Given the description of an element on the screen output the (x, y) to click on. 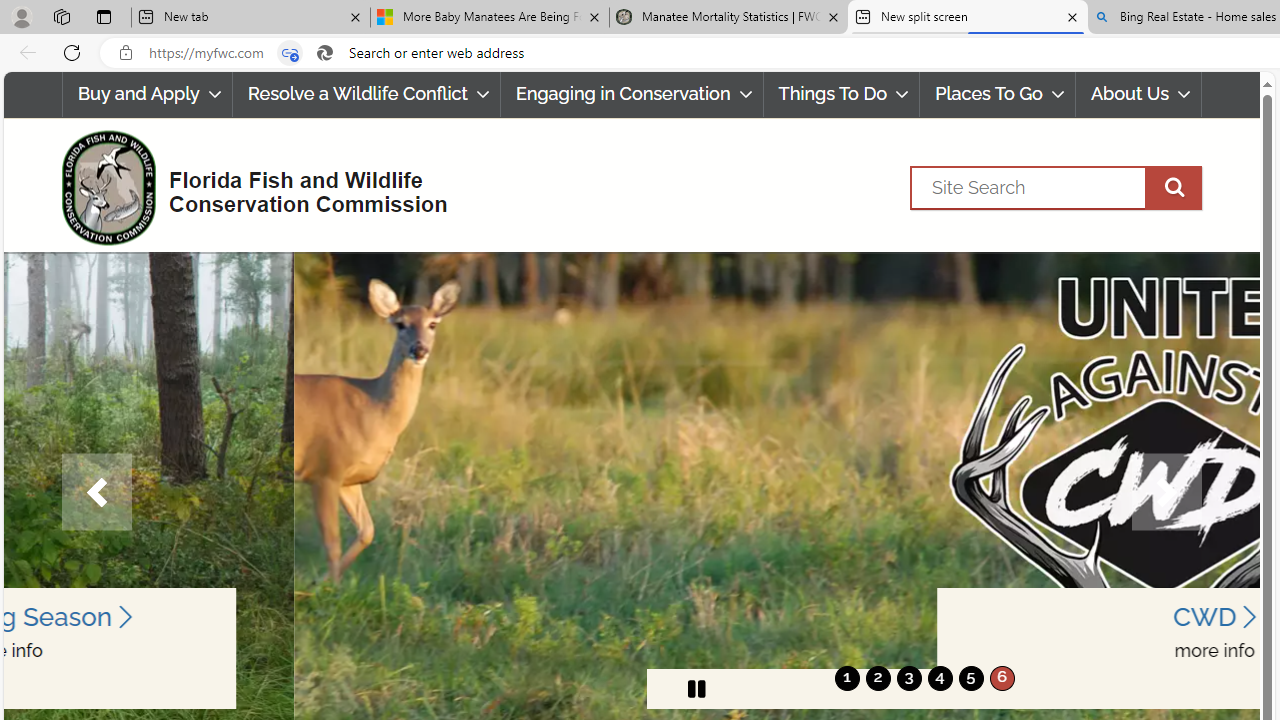
Previous (96, 491)
move to slide 3 (908, 678)
New split screen (967, 17)
FWC Logo (108, 187)
Next (1166, 491)
Places To Go (997, 94)
Resolve a Wildlife Conflict (365, 94)
4 (939, 678)
move to slide 4 (939, 678)
Buy and Apply (146, 94)
Engaging in Conservation (632, 94)
slider pause button (696, 688)
move to slide 2 (877, 678)
